Given the description of an element on the screen output the (x, y) to click on. 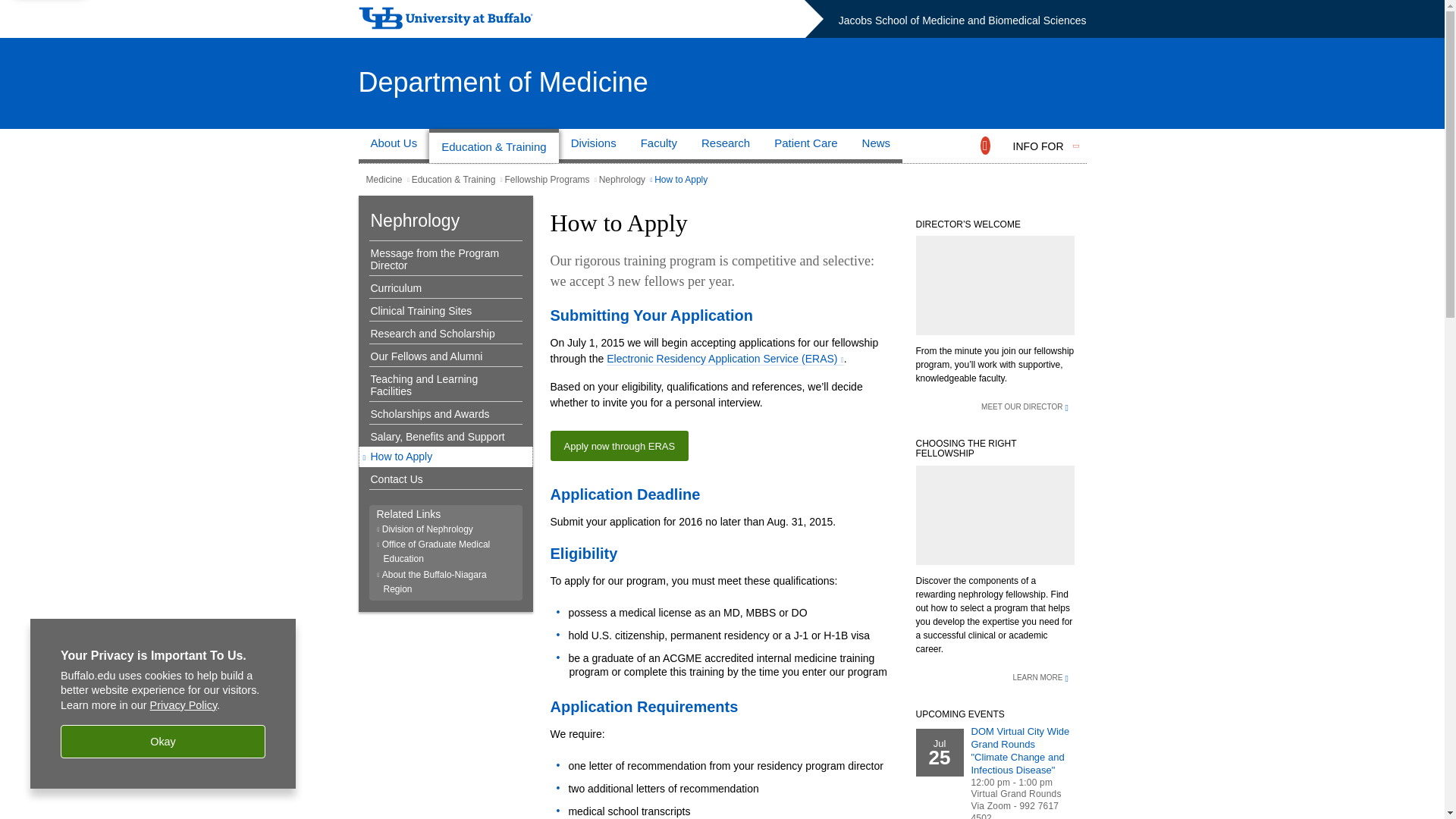
Clinical Training Sites (441, 310)
Medicine (383, 179)
Curriculum (441, 287)
Jacobs School of Medicine and Biomedical Sciences (962, 19)
This link opens a page in a new window or tab. (725, 358)
This link opens a page in a new window or tab. (842, 359)
Research and Scholarship (441, 333)
Our Fellows and Alumni (441, 356)
Message from the Program Director (441, 259)
About Us (393, 145)
INFO FOR (1038, 146)
Teaching and Learning Facilities (441, 385)
Faculty (658, 145)
Salary, Benefits and Support (441, 436)
Department of Medicine (502, 81)
